Given the description of an element on the screen output the (x, y) to click on. 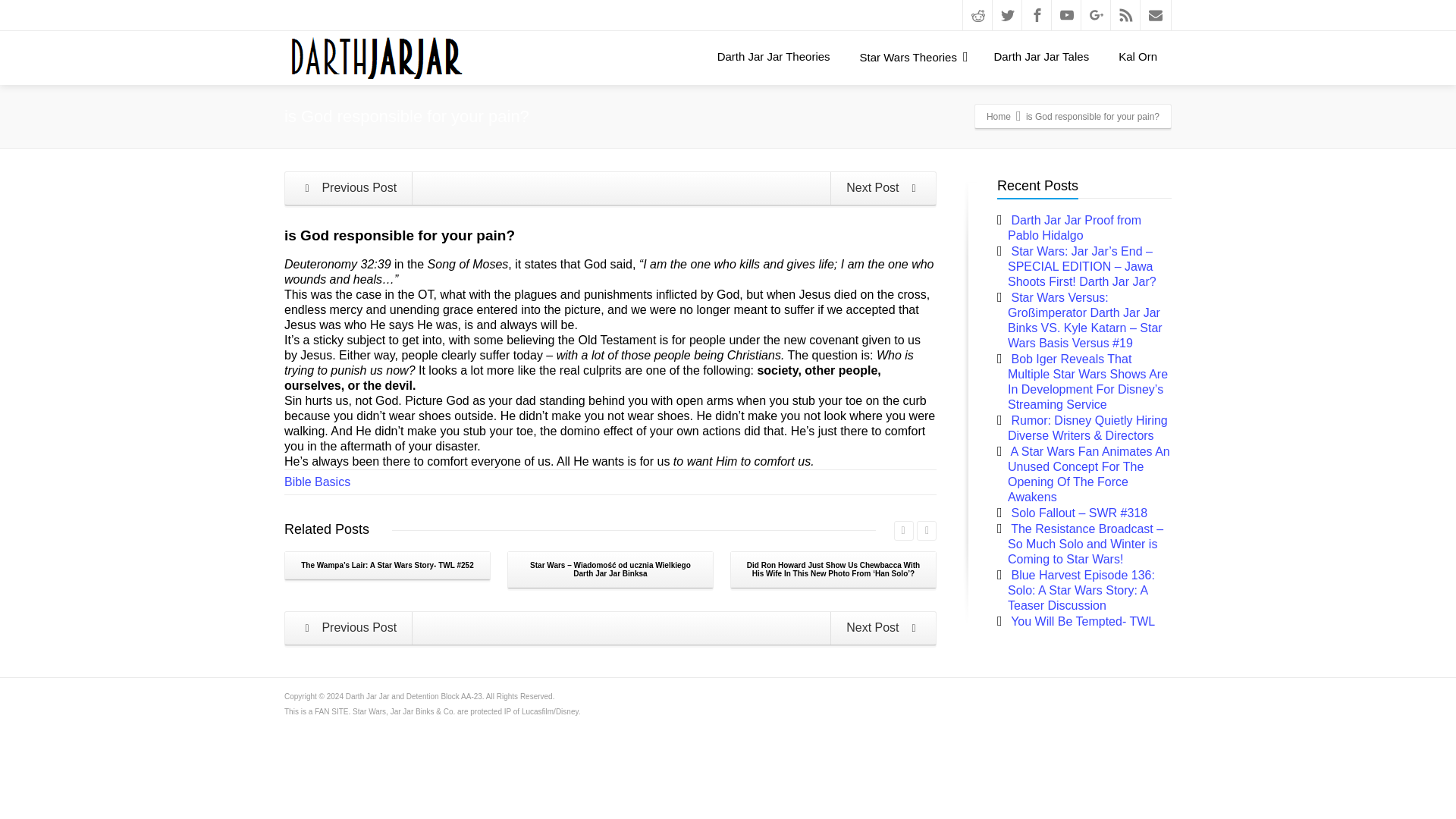
Reddit (977, 15)
Kal Orn (1137, 56)
Star Wars Theories (911, 57)
Google Plus (1096, 15)
Darth Jar Jar Tales (1041, 56)
secrets known to no one (882, 627)
secrets known to no one (882, 188)
Previous Post (348, 627)
be reborn today! (348, 627)
Rss (1125, 15)
Mail (1155, 15)
be reborn today! (348, 188)
Darth Jar Jar Theories (773, 56)
Youtube (1066, 15)
Previous Post (348, 188)
